Given the description of an element on the screen output the (x, y) to click on. 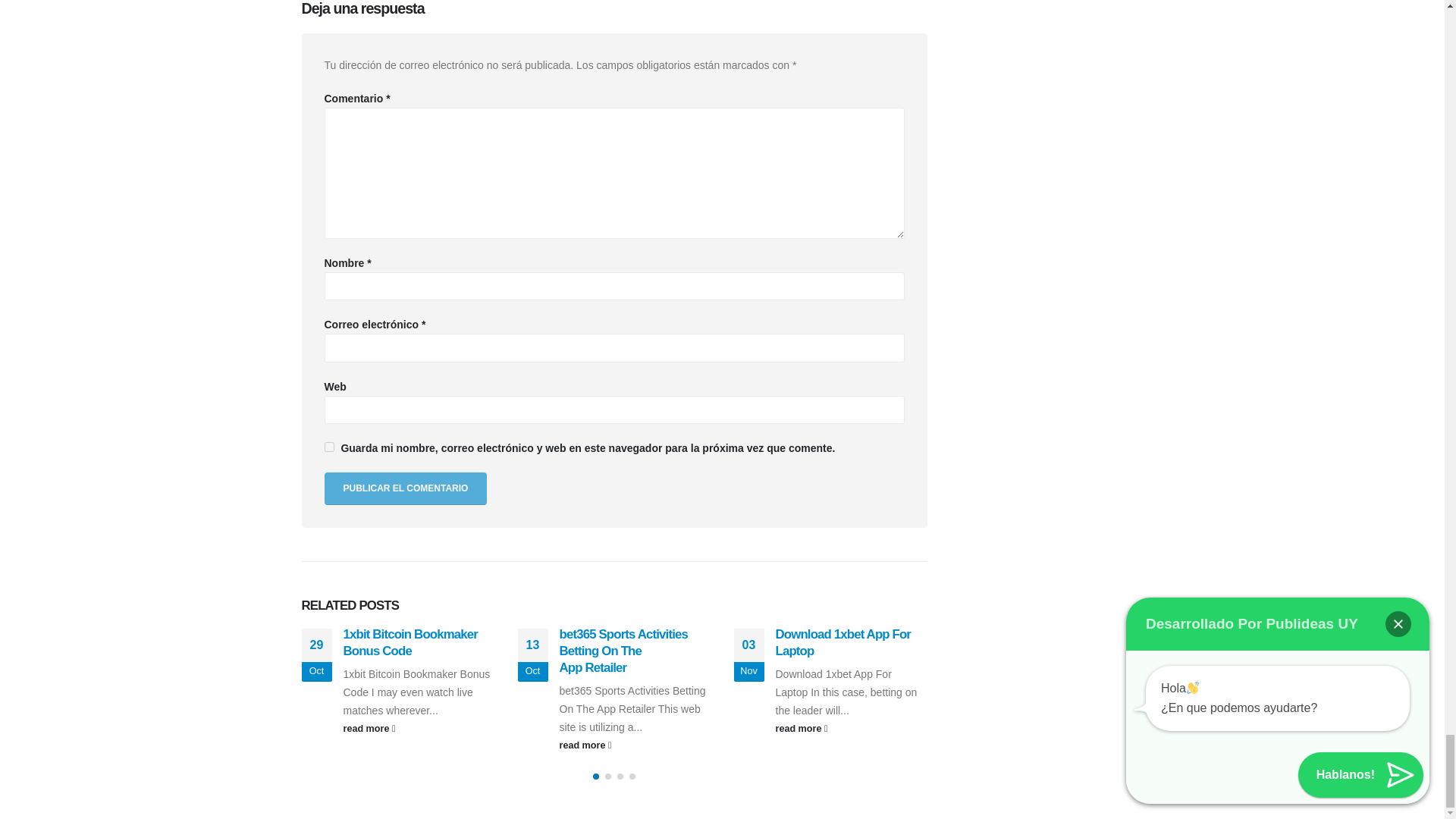
Publicar el comentario (405, 488)
Publicar el comentario (405, 488)
yes (329, 447)
